Given the description of an element on the screen output the (x, y) to click on. 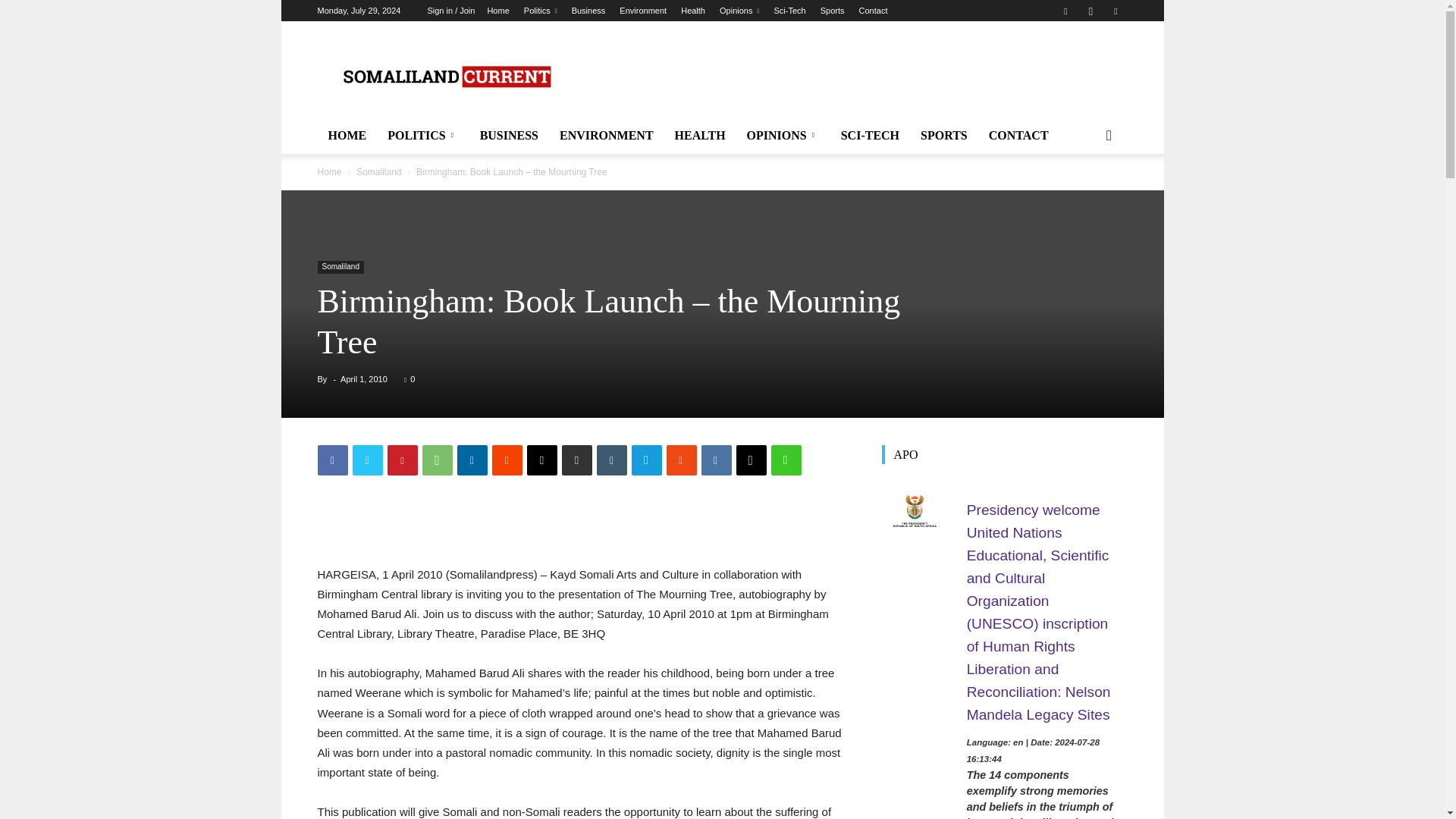
Facebook (1065, 10)
Pinterest (401, 460)
Home (497, 10)
Twitter (1114, 10)
WhatsApp (436, 460)
View all posts in Somaliland (378, 172)
Politics (540, 10)
Facebook (332, 460)
Instagram (1090, 10)
somalilandcurrent.com logo (445, 76)
Advertisement (850, 76)
Twitter (366, 460)
